Given the description of an element on the screen output the (x, y) to click on. 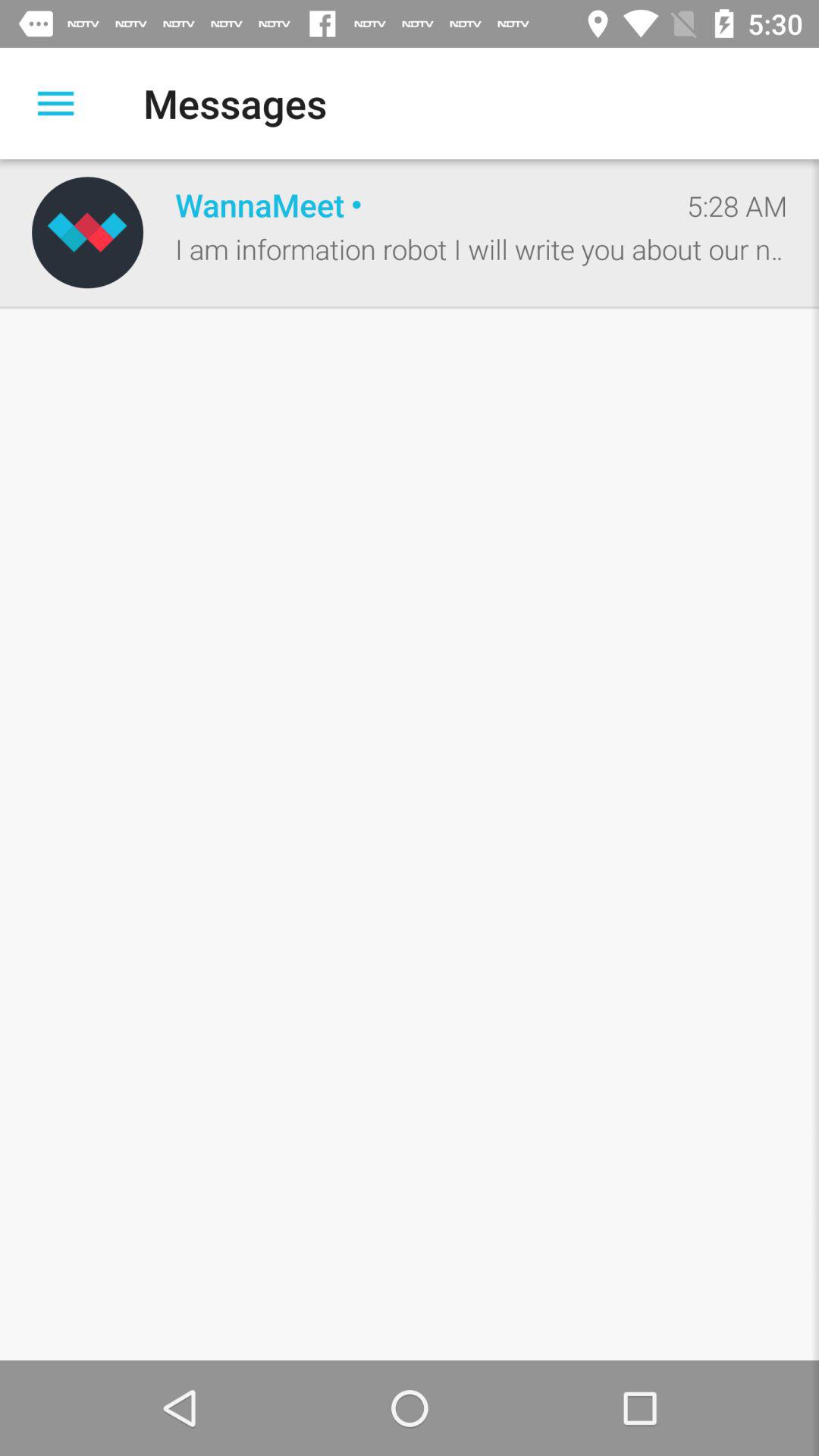
tap the icon next to the 5:28 am icon (415, 204)
